Given the description of an element on the screen output the (x, y) to click on. 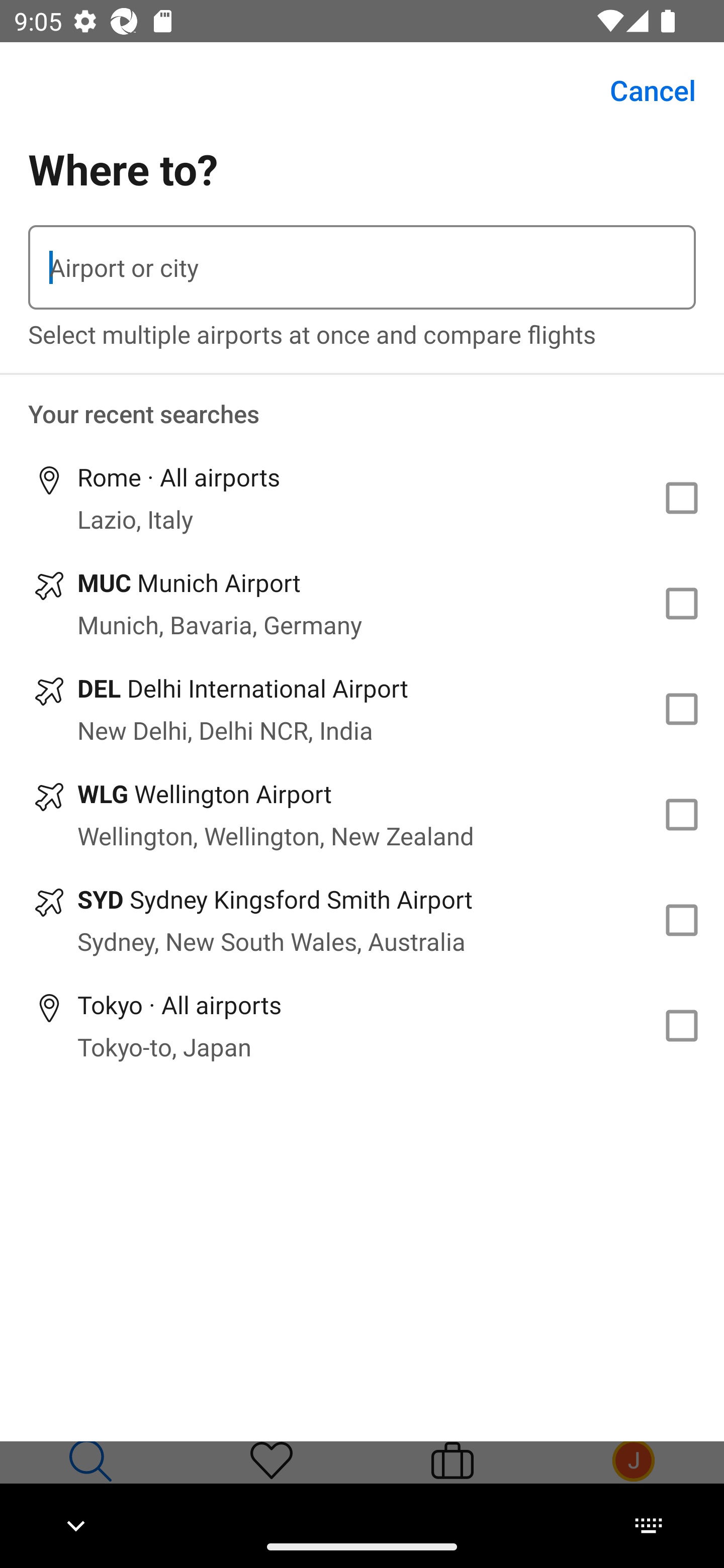
Cancel (641, 90)
Airport or city (361, 266)
Rome · All airports Lazio, Italy (362, 497)
MUC Munich Airport Munich, Bavaria, Germany (362, 603)
Tokyo · All airports Tokyo-to, Japan (362, 1025)
